Given the description of an element on the screen output the (x, y) to click on. 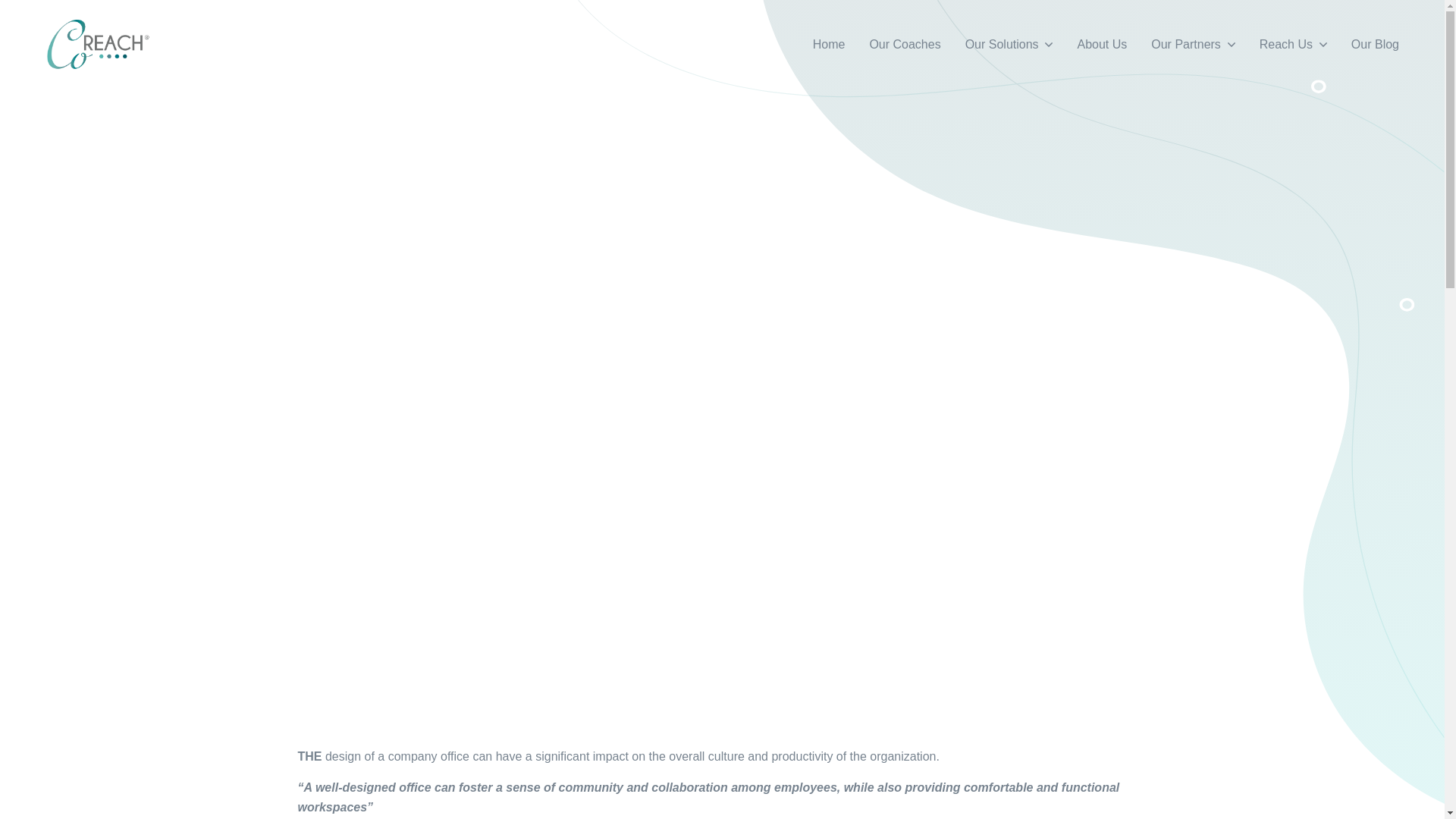
Our Partners (1192, 44)
Our Coaches (904, 44)
Reach Us (1293, 44)
Our Blog (1374, 44)
Our Partners (1192, 44)
Our Coaches (904, 44)
Home (828, 44)
About Us (1101, 44)
Our Solutions (1009, 44)
About Us (1101, 44)
